Given the description of an element on the screen output the (x, y) to click on. 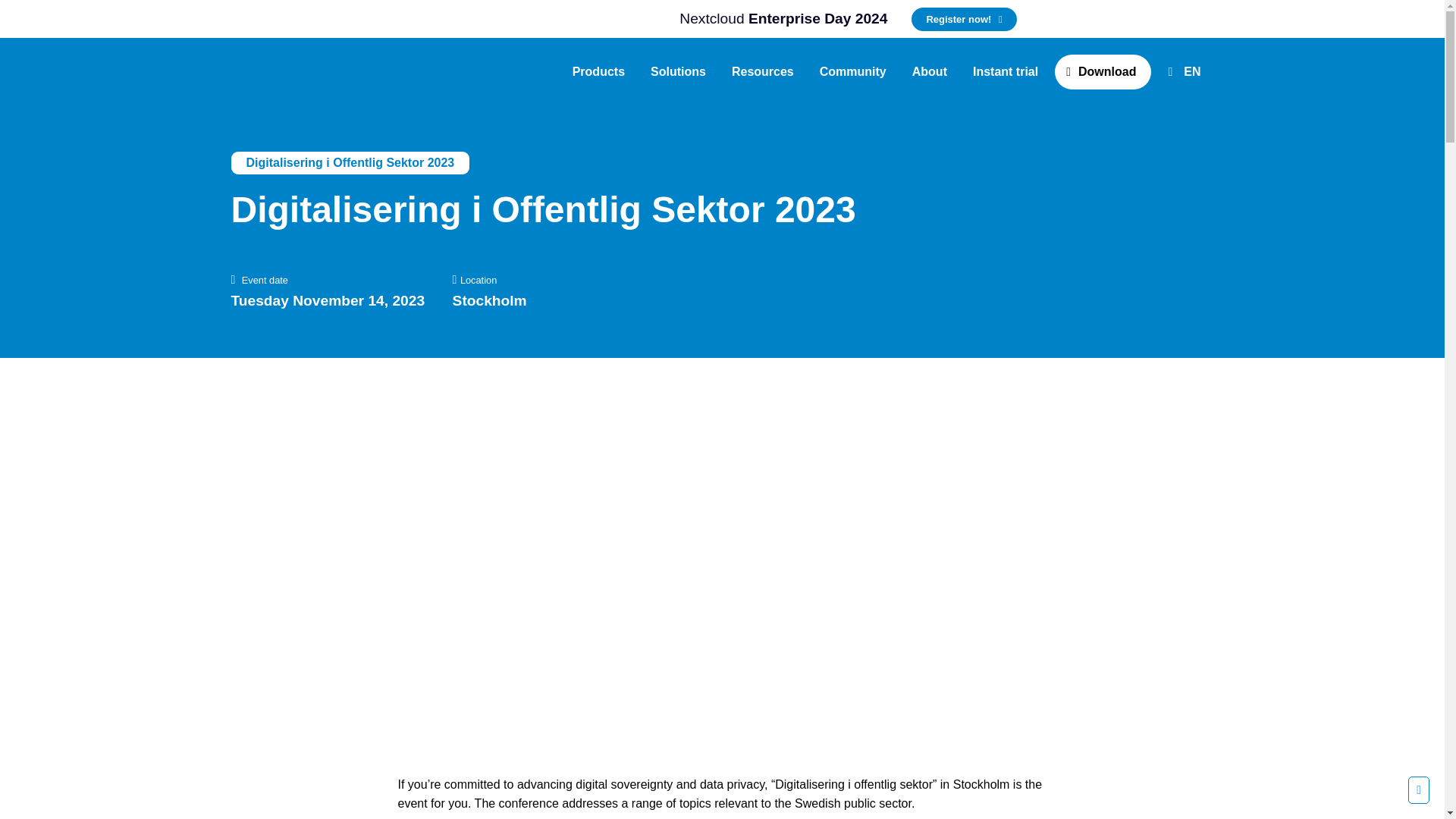
Nextcloud Enterprise Day 2024 (782, 19)
Products (598, 71)
Nextcloud Enterprise Day 2024 (541, 18)
Nextcloud Enterprise Day 2024 (782, 19)
Resources (762, 71)
Nextcloud (263, 71)
Solutions (678, 71)
Register now! (963, 19)
Nextcloud Enterprise Day 2024 (963, 19)
